Given the description of an element on the screen output the (x, y) to click on. 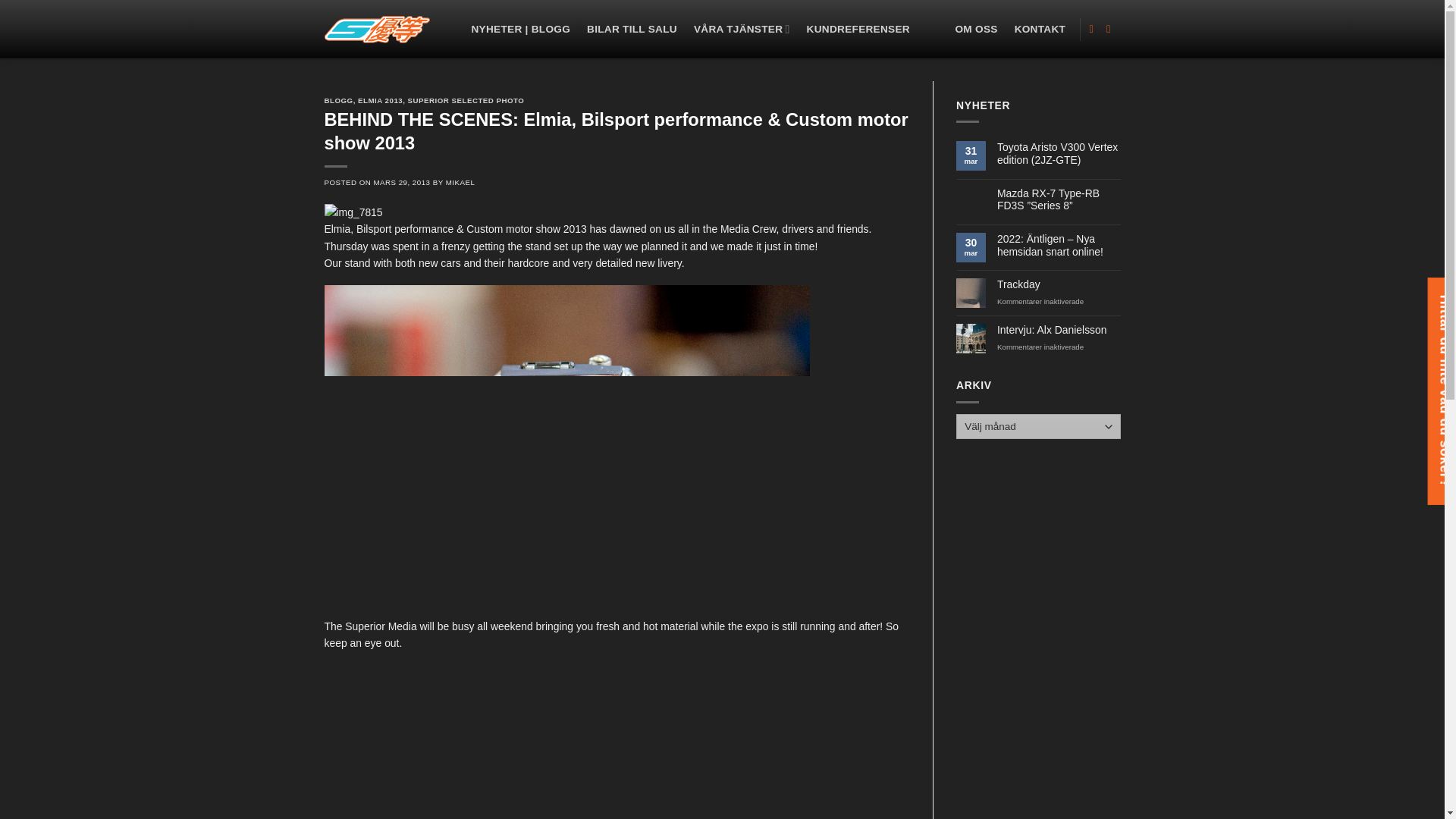
MARS 29, 2013 (400, 182)
BILAR TILL SALU (631, 28)
BLOGG (338, 100)
MIKAEL (460, 182)
OM OSS (976, 28)
SUPERIOR SELECTED PHOTO (465, 100)
KUNDREFERENSER (858, 28)
KONTAKT (1039, 28)
Trackday (1059, 284)
Intervju: Alx Danielsson (1059, 329)
